Given the description of an element on the screen output the (x, y) to click on. 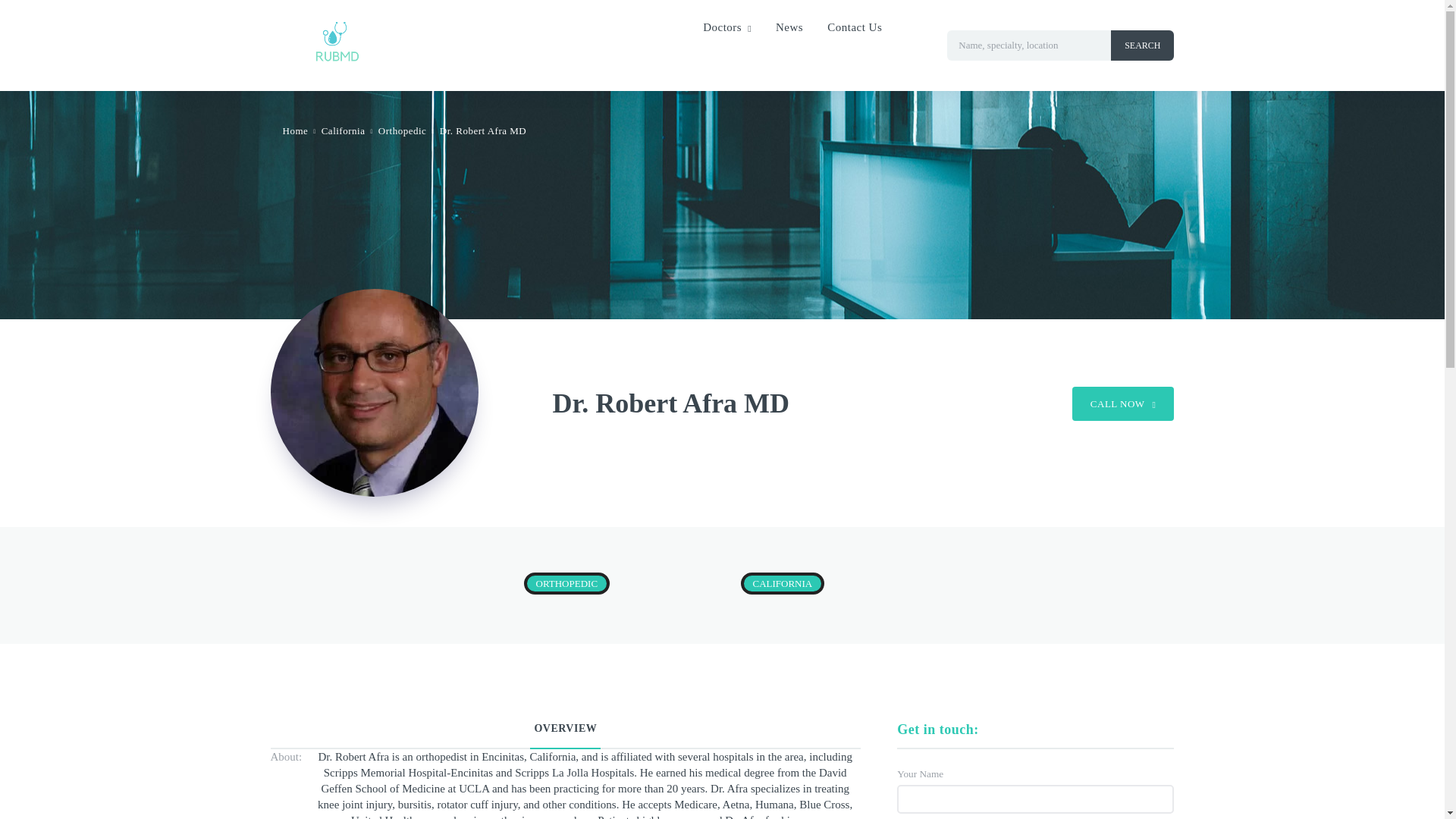
CALIFORNIA (781, 583)
Doctors (726, 27)
SEARCH (1141, 45)
Rubmd (333, 54)
ORTHOPEDIC (566, 583)
attribute (402, 130)
Home (294, 130)
Contact Us (854, 27)
Orthopedic (402, 130)
California (343, 130)
